Given the description of an element on the screen output the (x, y) to click on. 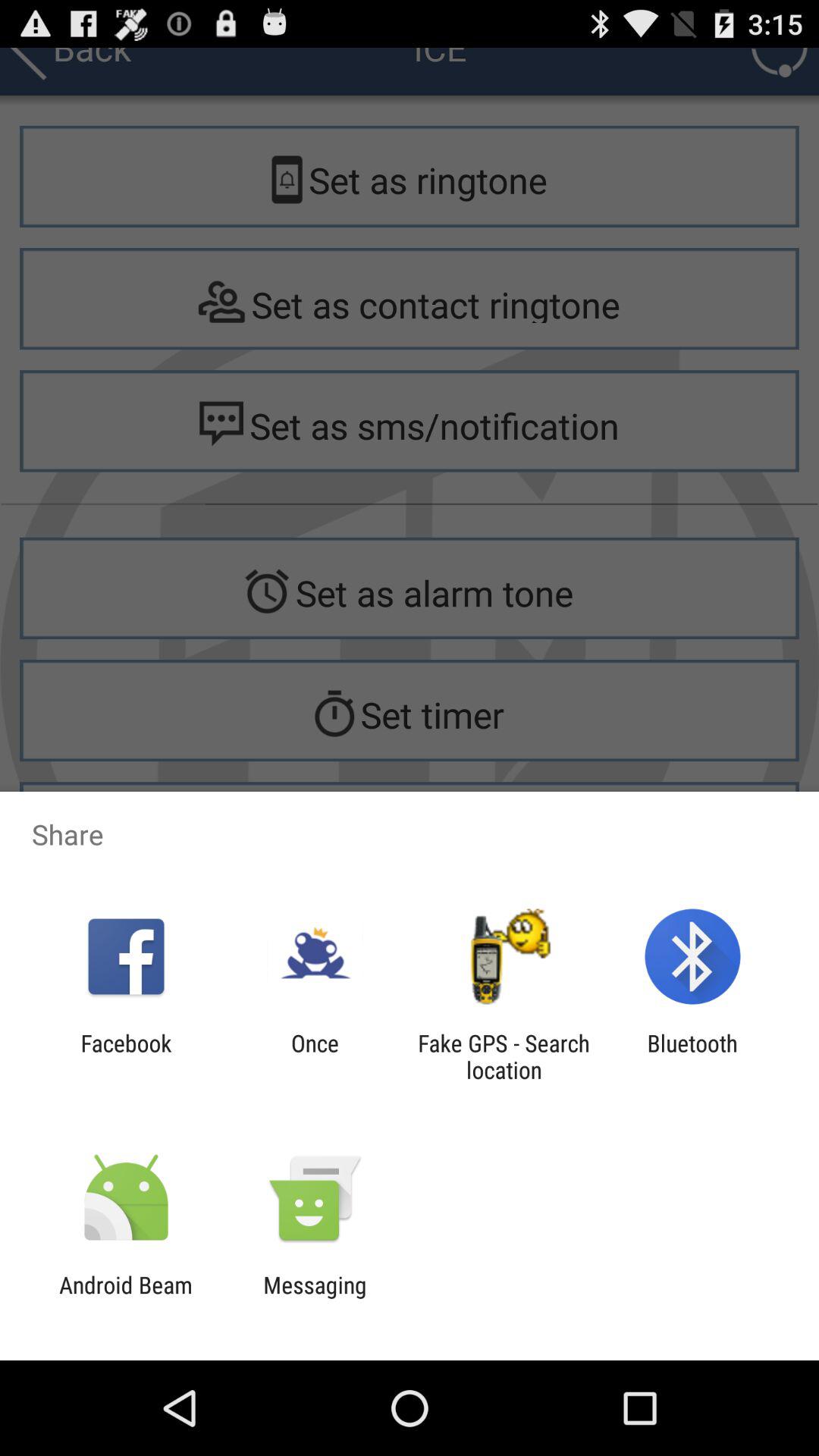
flip until the facebook icon (125, 1056)
